Given the description of an element on the screen output the (x, y) to click on. 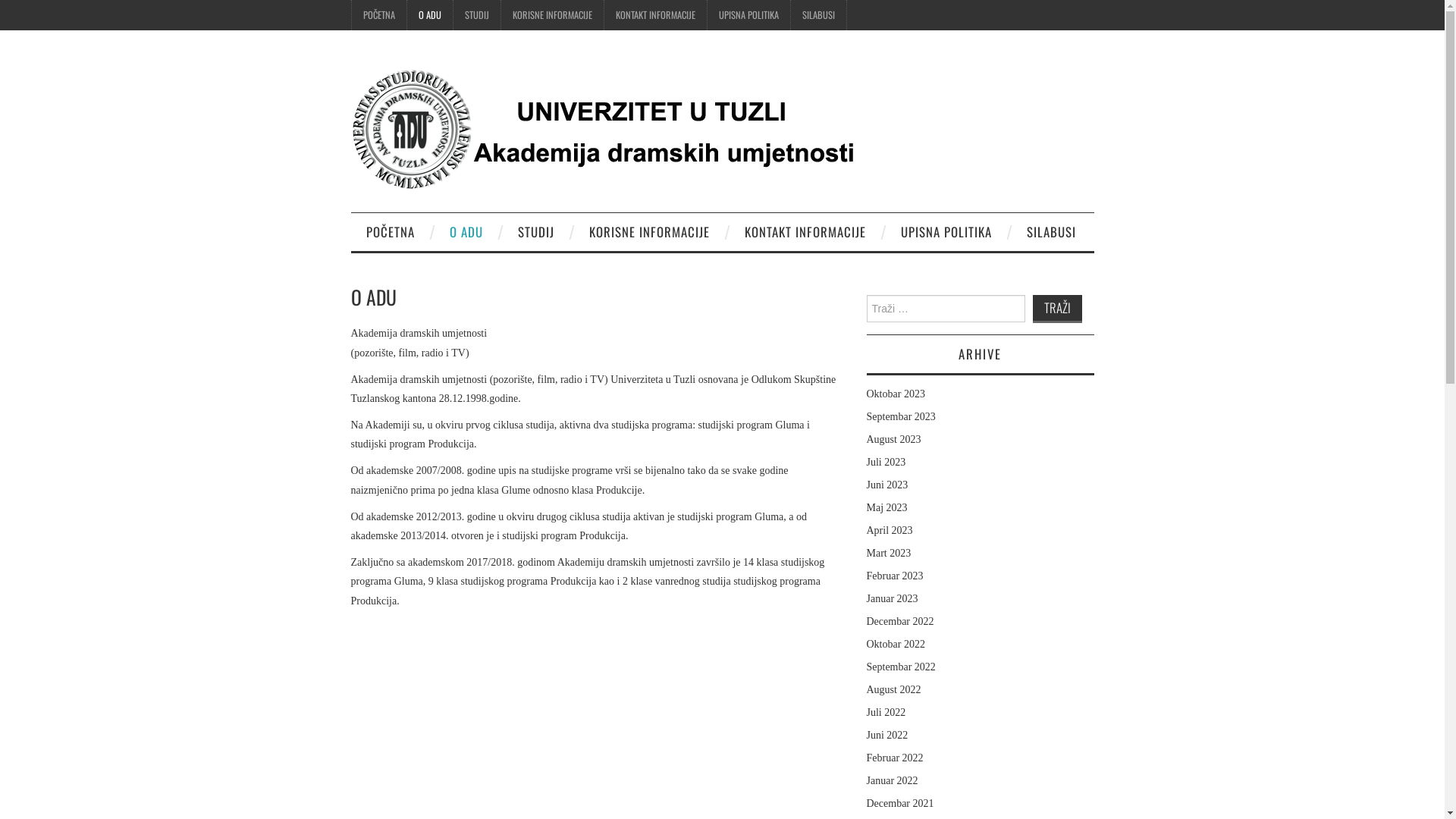
Januar 2023 Element type: text (891, 598)
KONTAKT INFORMACIJE Element type: text (805, 232)
Maj 2023 Element type: text (886, 507)
KORISNE INFORMACIJE Element type: text (648, 232)
SILABUSI Element type: text (1051, 232)
SILABUSI Element type: text (817, 15)
Juli 2022 Element type: text (885, 712)
Februar 2022 Element type: text (894, 757)
August 2023 Element type: text (893, 439)
Septembar 2023 Element type: text (900, 416)
Juni 2023 Element type: text (886, 484)
KORISNE INFORMACIJE Element type: text (551, 15)
Decembar 2021 Element type: text (899, 803)
UPISNA POLITIKA Element type: text (946, 232)
O ADU Element type: text (465, 232)
Search for: Element type: hover (945, 308)
UPISNA POLITIKA Element type: text (747, 15)
Oktobar 2022 Element type: text (895, 643)
Juni 2022 Element type: text (886, 734)
Oktobar 2023 Element type: text (895, 393)
Januar 2022 Element type: text (891, 780)
Septembar 2022 Element type: text (900, 666)
STUDIJ Element type: text (535, 232)
KONTAKT INFORMACIJE Element type: text (654, 15)
Mart 2023 Element type: text (888, 552)
Univerzitet u Tuzli Element type: hover (608, 127)
August 2022 Element type: text (893, 689)
Decembar 2022 Element type: text (899, 621)
Juli 2023 Element type: text (885, 461)
STUDIJ Element type: text (476, 15)
April 2023 Element type: text (889, 530)
Februar 2023 Element type: text (894, 575)
O ADU Element type: text (428, 15)
